Given the description of an element on the screen output the (x, y) to click on. 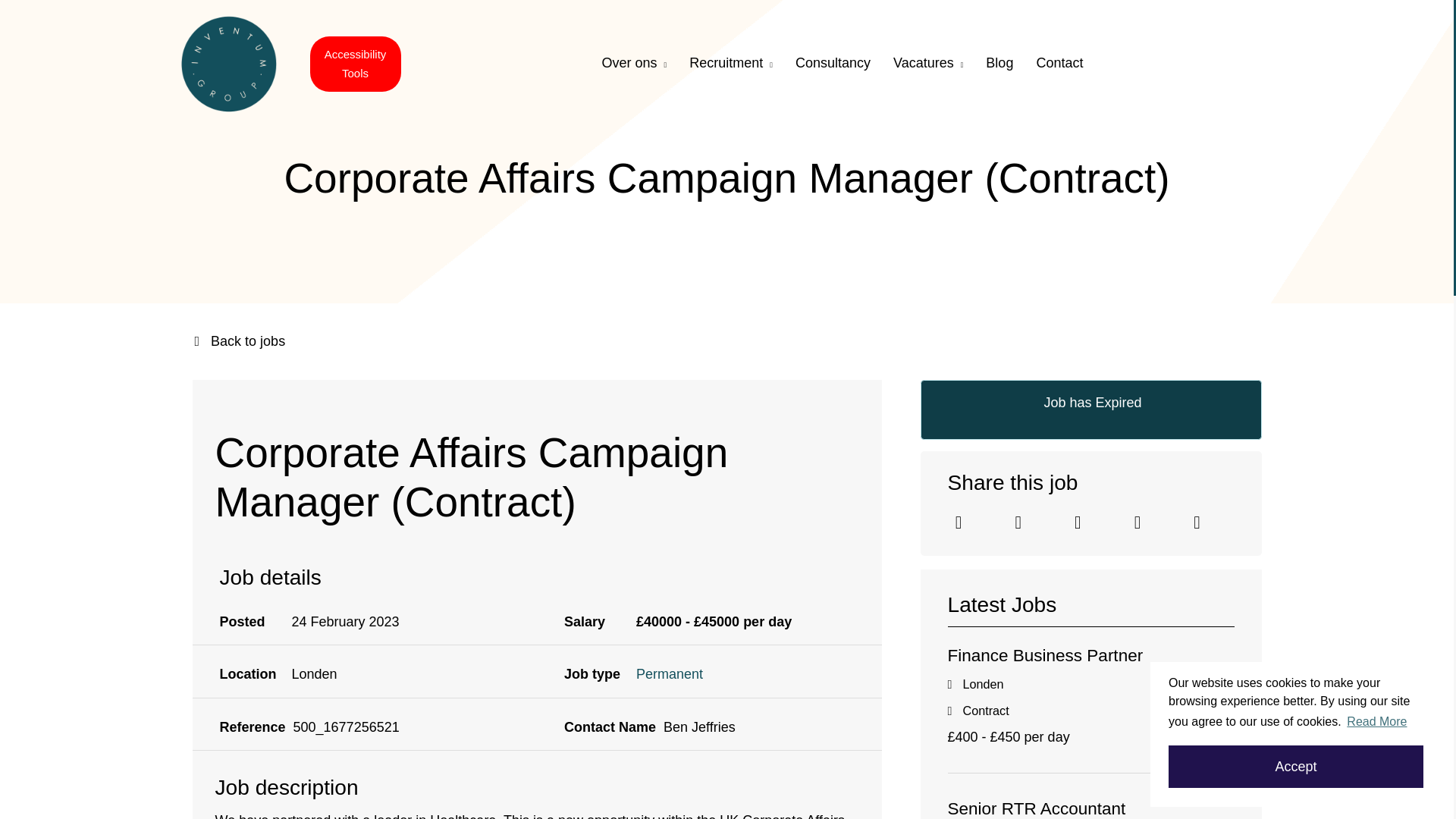
Recruitment (730, 62)
Read More (1376, 721)
Accept (1296, 766)
Over ons (634, 62)
